Given the description of an element on the screen output the (x, y) to click on. 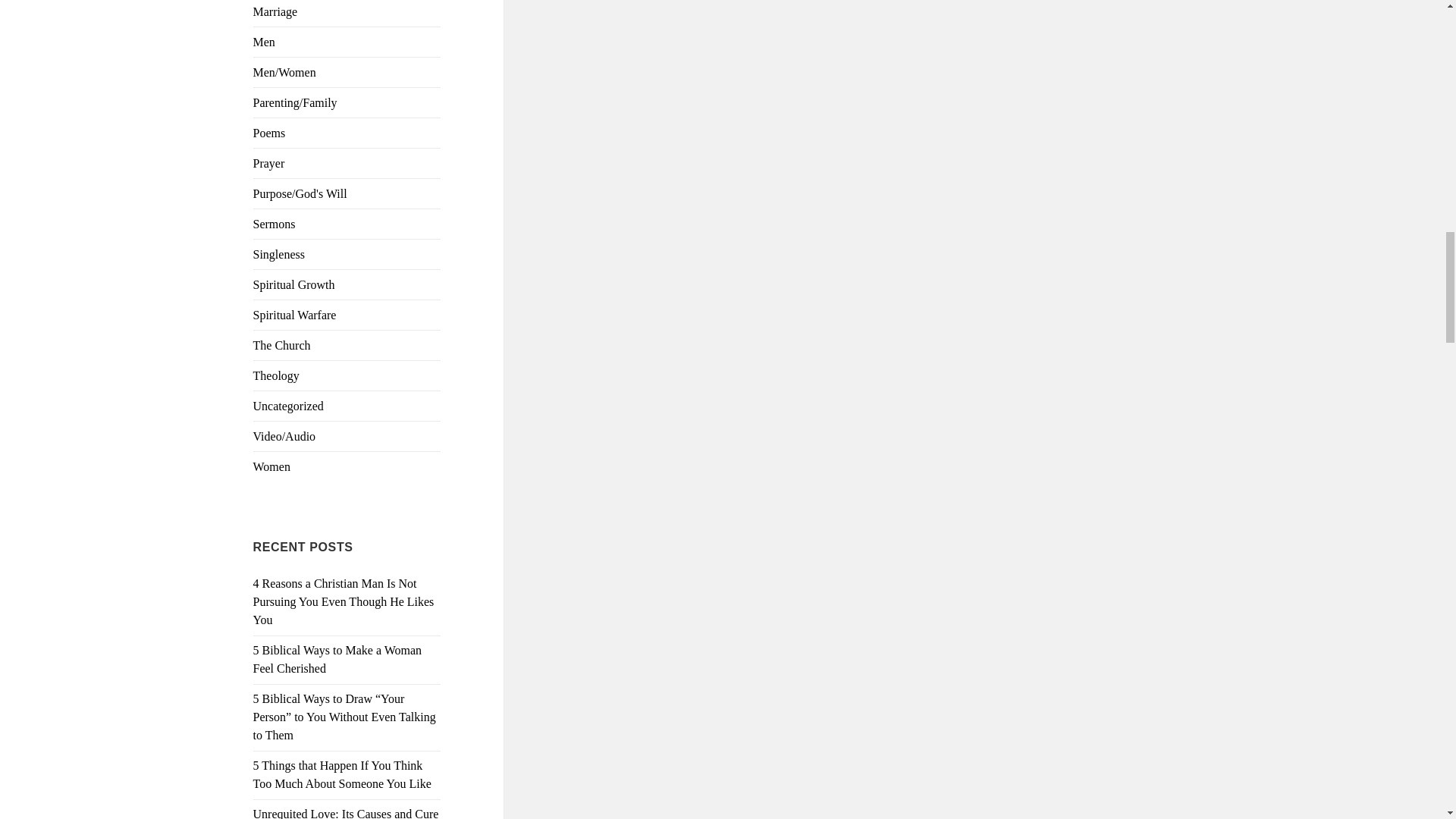
Poems (269, 132)
The Church (282, 345)
Marriage (275, 11)
Spiritual Warfare (294, 314)
Men (264, 42)
Prayer (269, 163)
Sermons (274, 223)
Theology (276, 375)
Spiritual Growth (293, 284)
Singleness (278, 254)
